Given the description of an element on the screen output the (x, y) to click on. 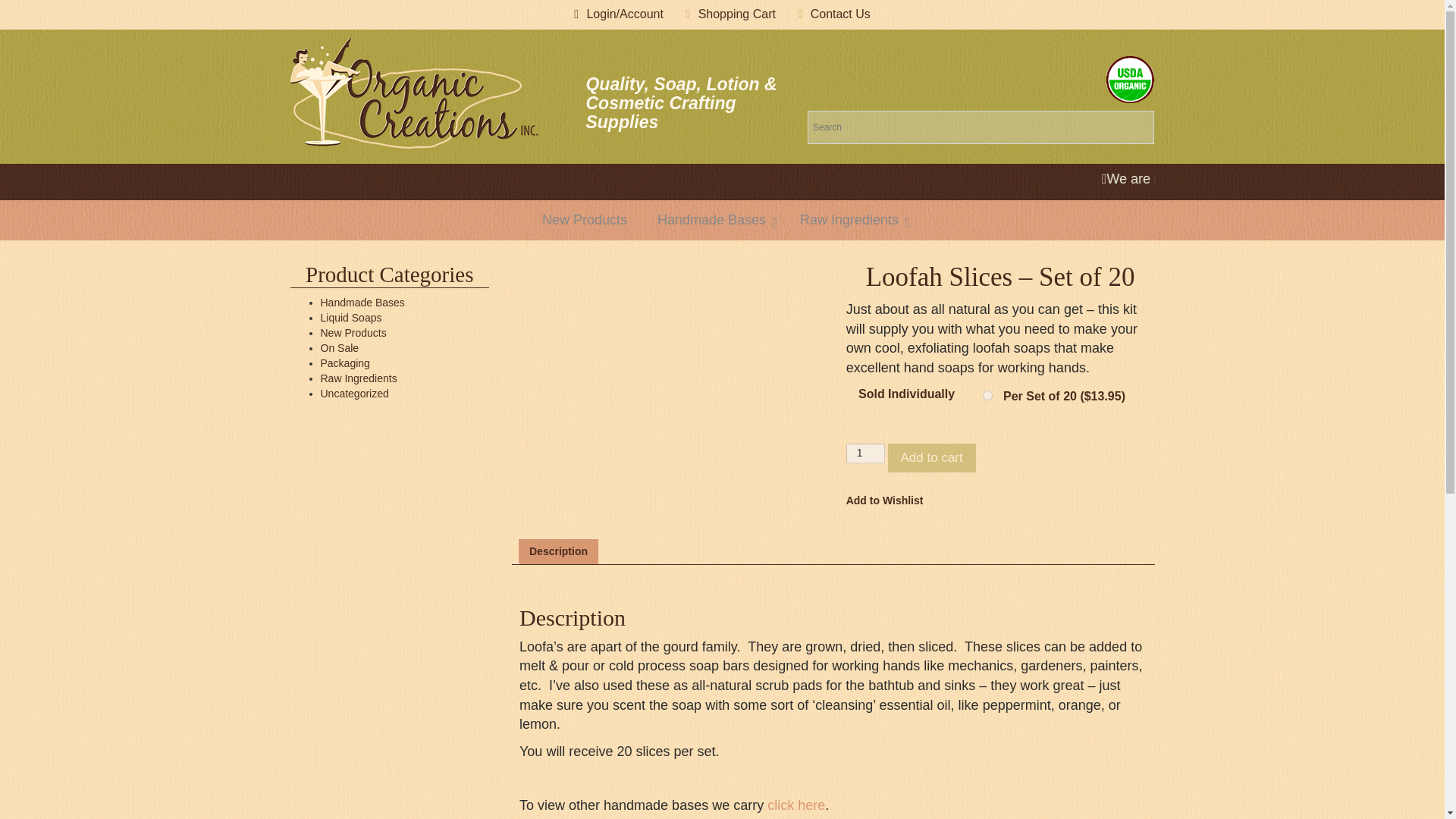
Contact Us (840, 13)
Raw Ingredients (850, 219)
Shopping Cart (737, 13)
Handmade Bases (713, 219)
New Products (584, 219)
per-set-of-20 (987, 395)
1 (721, 219)
